Given the description of an element on the screen output the (x, y) to click on. 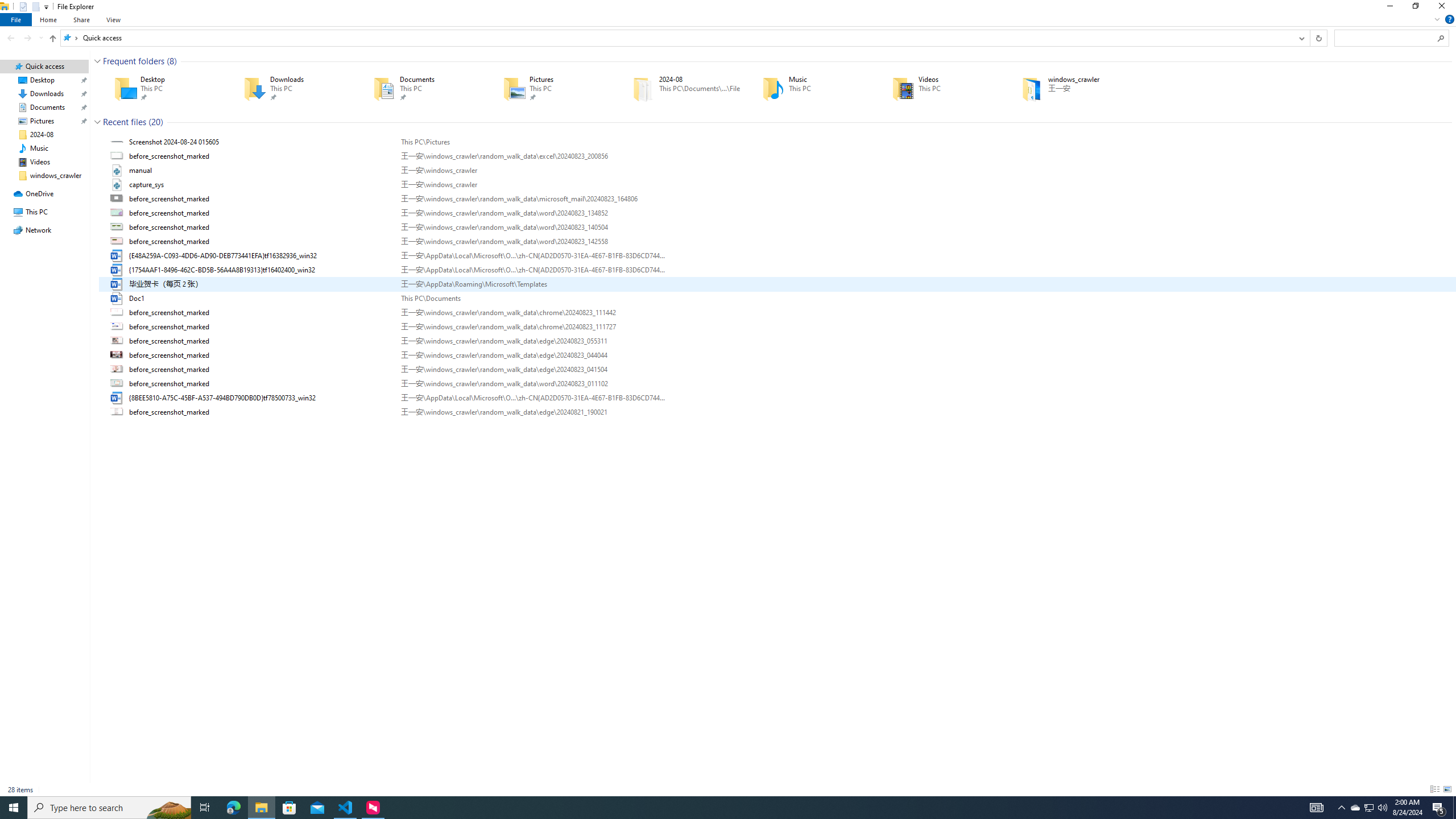
Up to "Desktop" (Alt + Up Arrow) (52, 38)
Address band toolbar (1309, 37)
Restore (1415, 8)
Details (1434, 789)
Minimize (1388, 8)
View (113, 19)
Refresh "Quick access" (F5) (1318, 37)
Music (810, 88)
Recent locations (40, 37)
Downloads (292, 88)
Share (81, 19)
Search Box (1386, 37)
Previous Locations (1301, 37)
